Given the description of an element on the screen output the (x, y) to click on. 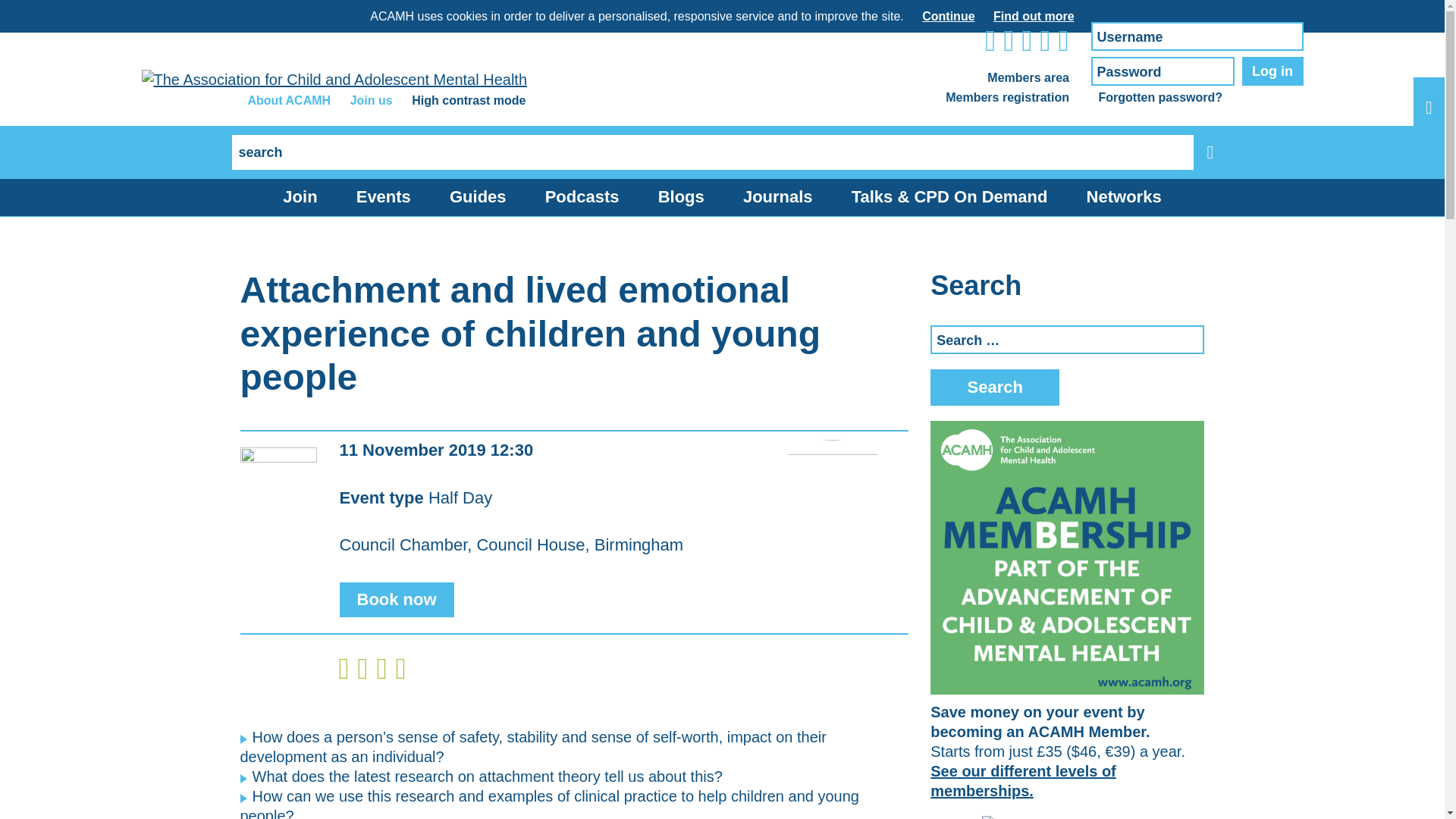
High contrast mode (468, 100)
Search for: (712, 152)
Find out more (1033, 15)
Join us (371, 100)
Join (299, 197)
Podcasts (582, 197)
Blogs (681, 197)
Continue (947, 15)
Search (994, 387)
Events (383, 197)
Log in (1272, 70)
About ACAMH (288, 100)
Search (994, 387)
Guides (477, 197)
